Given the description of an element on the screen output the (x, y) to click on. 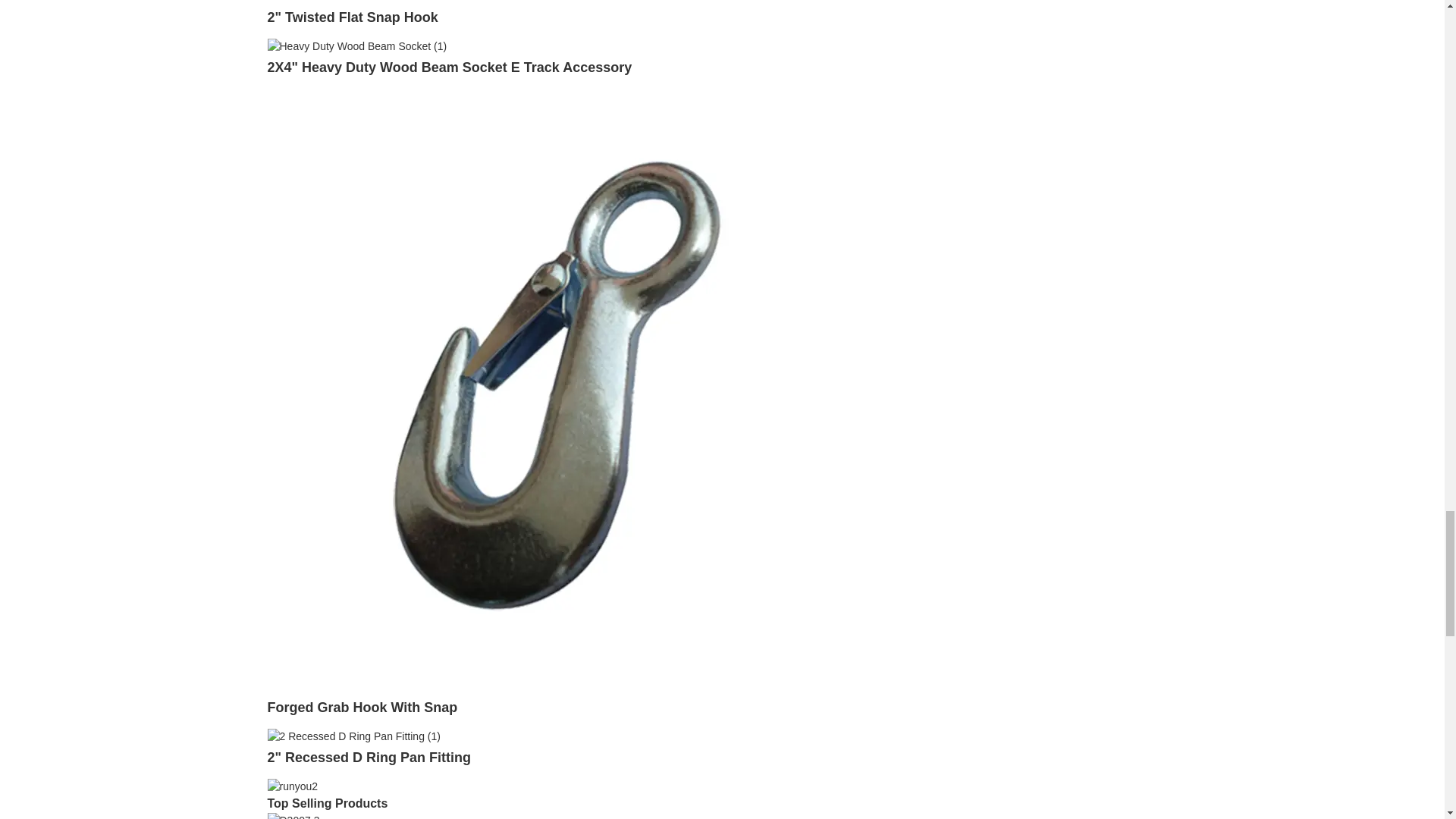
2 (352, 17)
2X4 (356, 45)
